Given the description of an element on the screen output the (x, y) to click on. 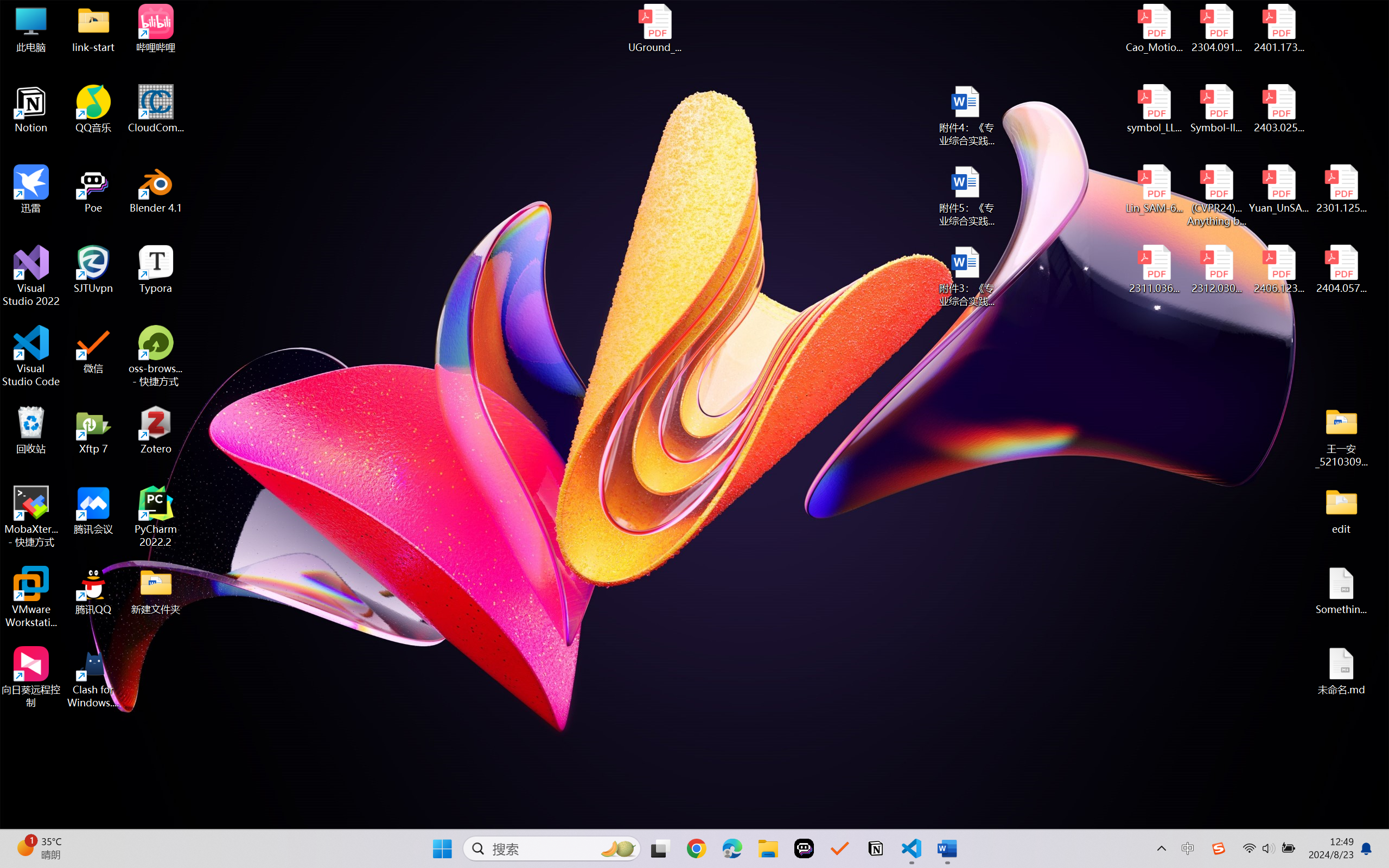
2312.03032v2.pdf (1216, 269)
PyCharm 2022.2 (156, 516)
VMware Workstation Pro (31, 597)
(CVPR24)Matching Anything by Segmenting Anything.pdf (1216, 195)
